Given the description of an element on the screen output the (x, y) to click on. 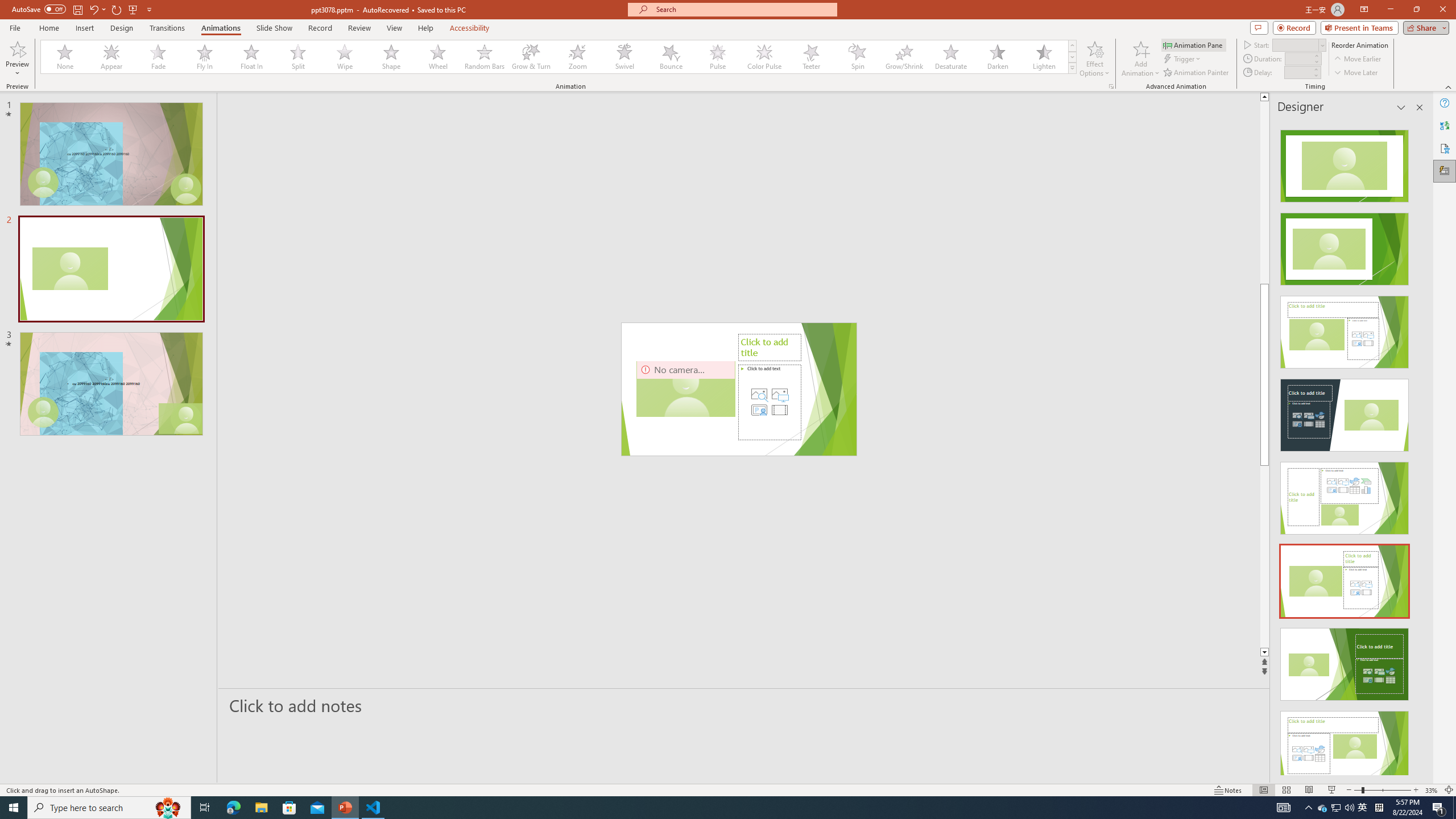
Less (1315, 75)
Recommended Design: Design Idea (1344, 162)
Page down (1302, 556)
Wheel (437, 56)
More (1315, 69)
Content Placeholder (769, 402)
